Given the description of an element on the screen output the (x, y) to click on. 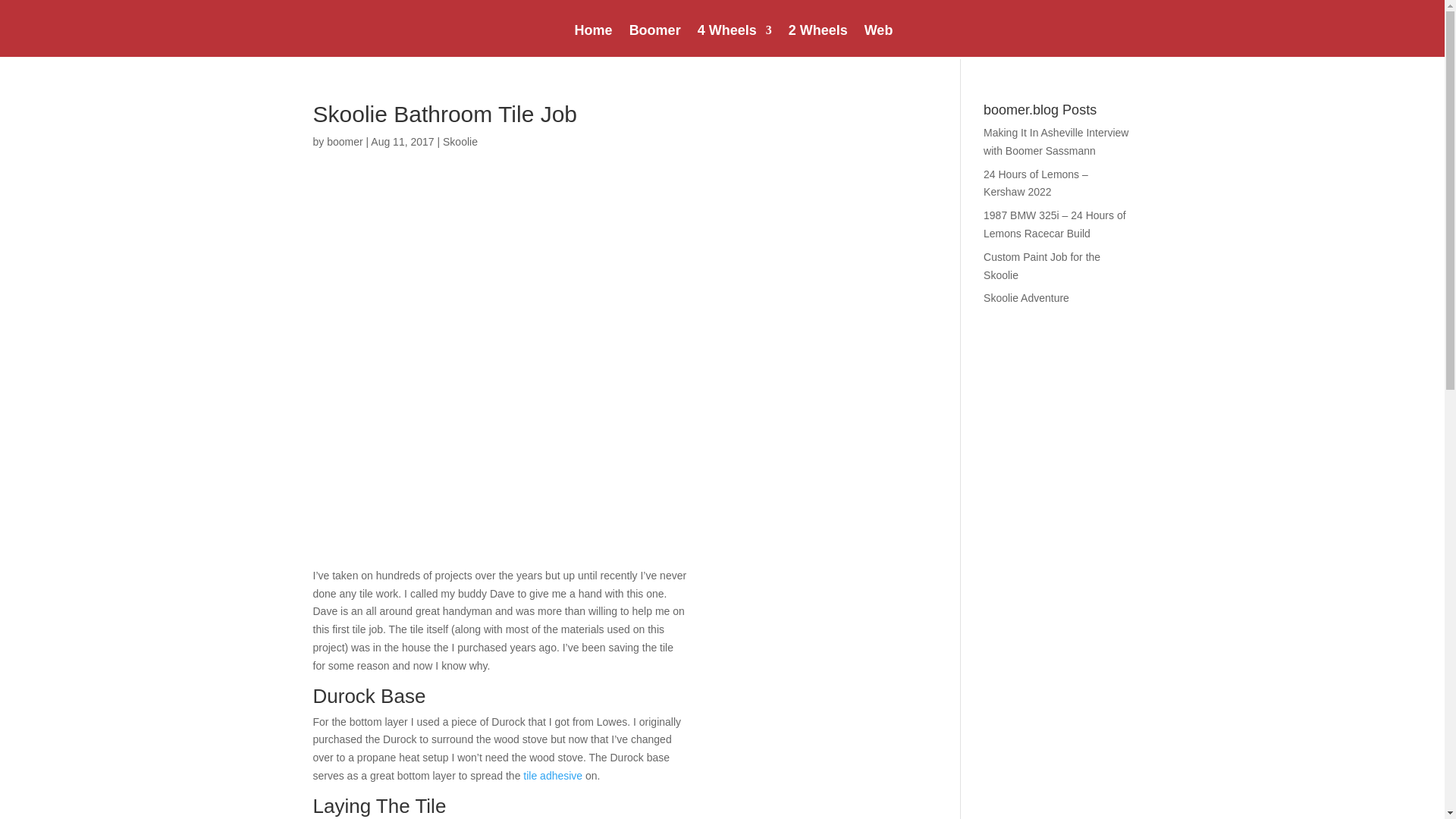
boomer (344, 141)
2 Wheels (818, 29)
Skoolie (459, 141)
Making It In Asheville Interview with Boomer Sassmann (1056, 141)
Web (878, 29)
Custom Paint Job for the Skoolie (1042, 265)
tile adhesive (552, 775)
Posts by boomer (344, 141)
Home (593, 29)
Boomer (654, 29)
Skoolie Adventure (1026, 297)
4 Wheels (734, 29)
